Given the description of an element on the screen output the (x, y) to click on. 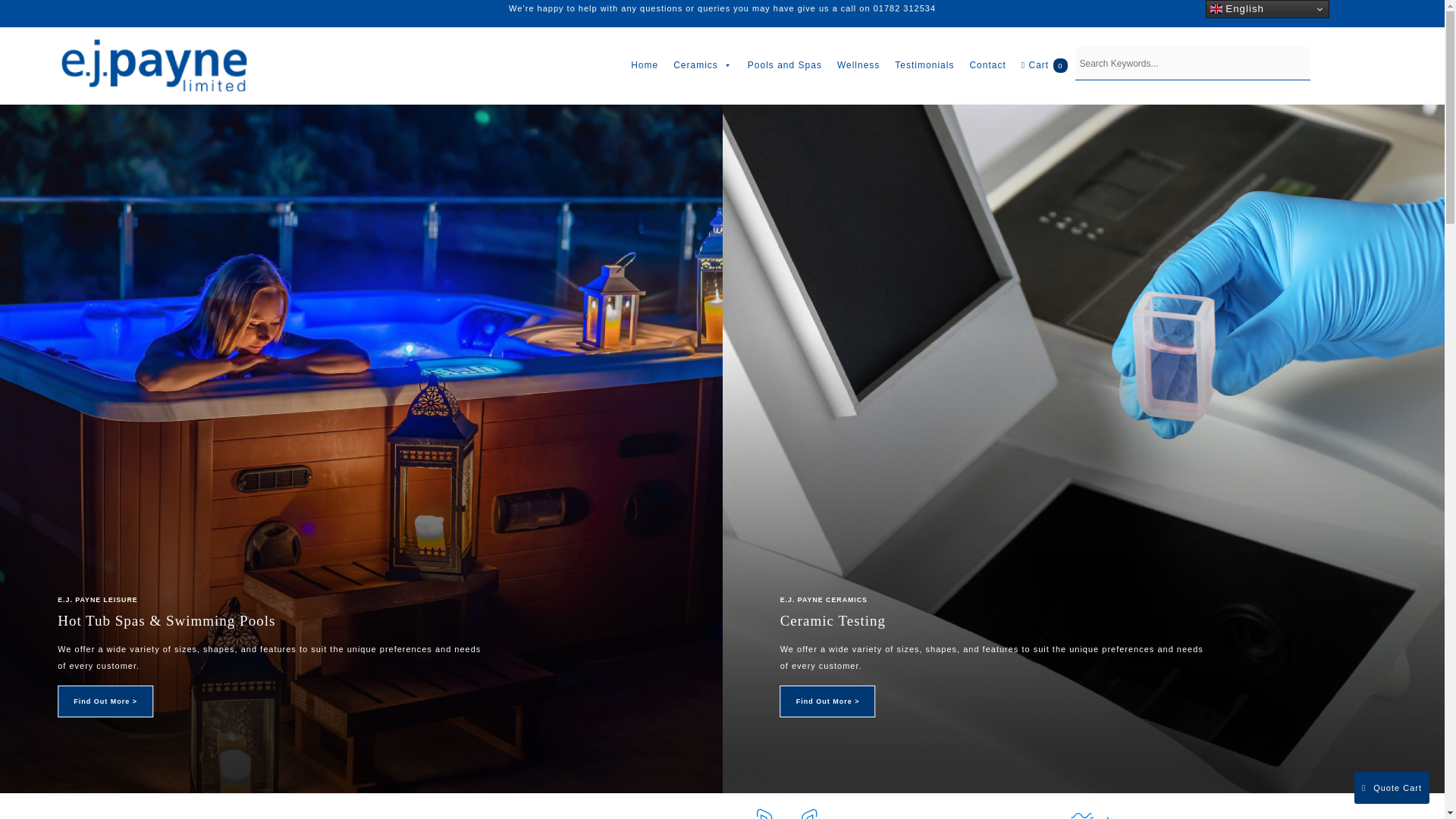
Home (644, 64)
Testimonials (923, 64)
Contact (986, 64)
Cart0 (1044, 64)
Pools and Spas (784, 64)
Ceramics (702, 64)
Wellness (857, 64)
